Given the description of an element on the screen output the (x, y) to click on. 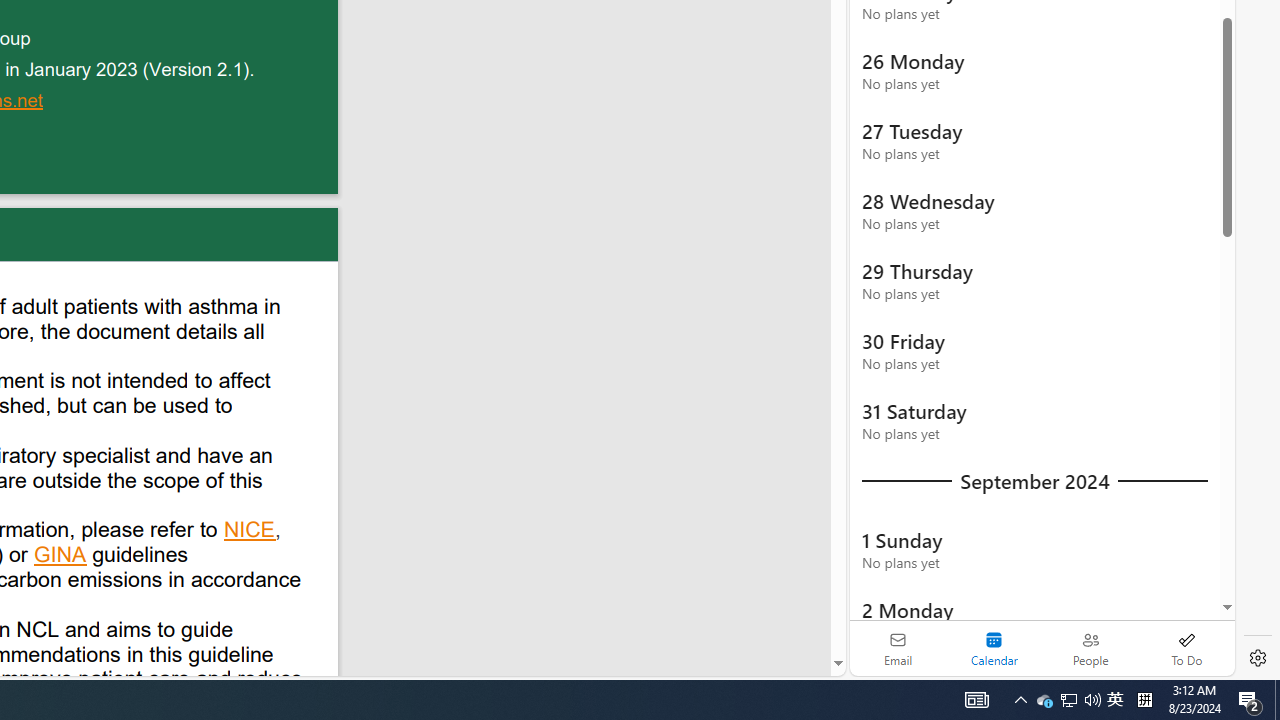
Email (898, 648)
People (1090, 648)
Selected calendar module. Date today is 22 (994, 648)
To Do (1186, 648)
GINA  (61, 557)
NICE (250, 532)
